Given the description of an element on the screen output the (x, y) to click on. 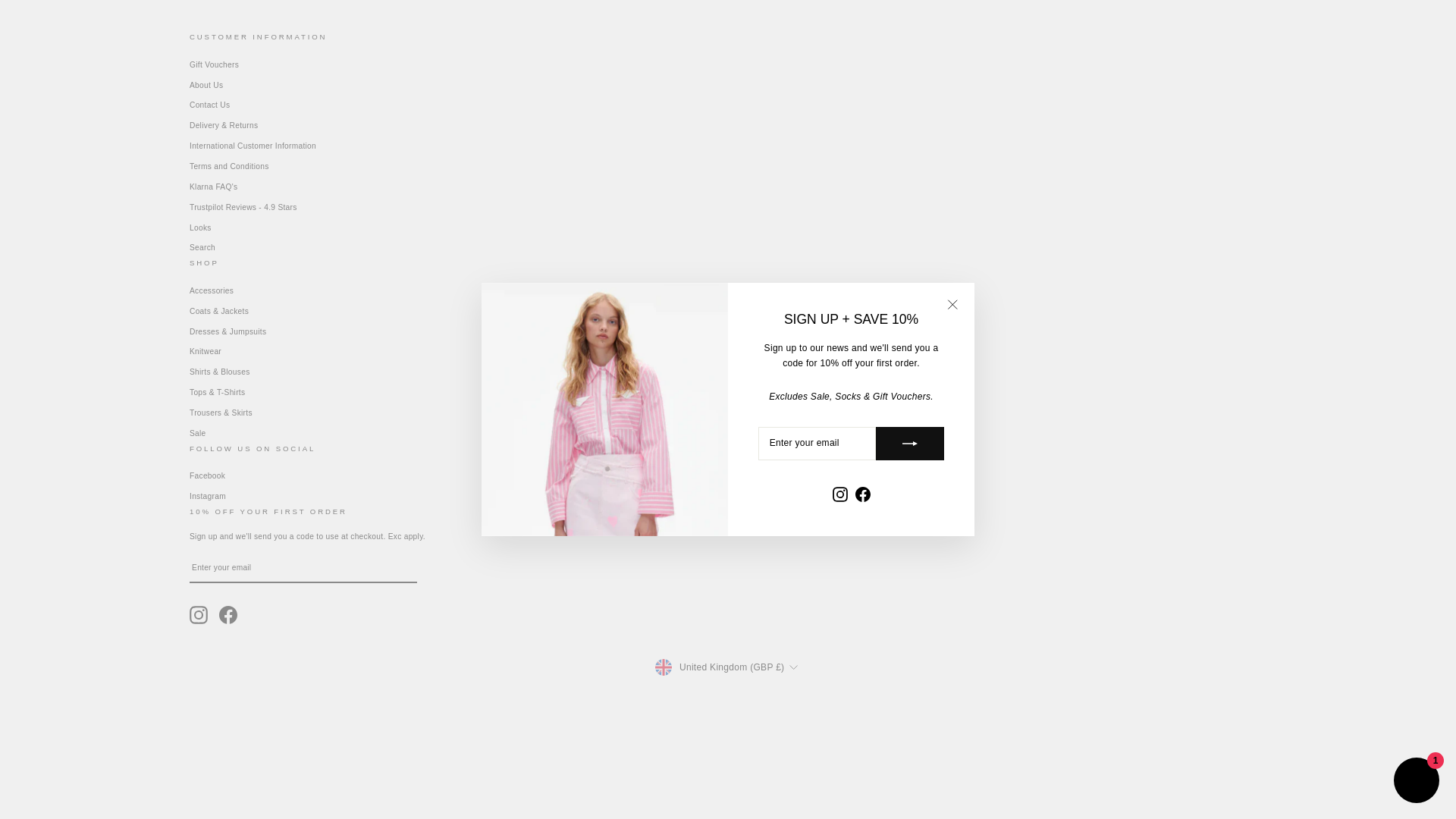
Frontiers Woman on Instagram (198, 615)
instagram (198, 615)
American Express (574, 716)
